Given the description of an element on the screen output the (x, y) to click on. 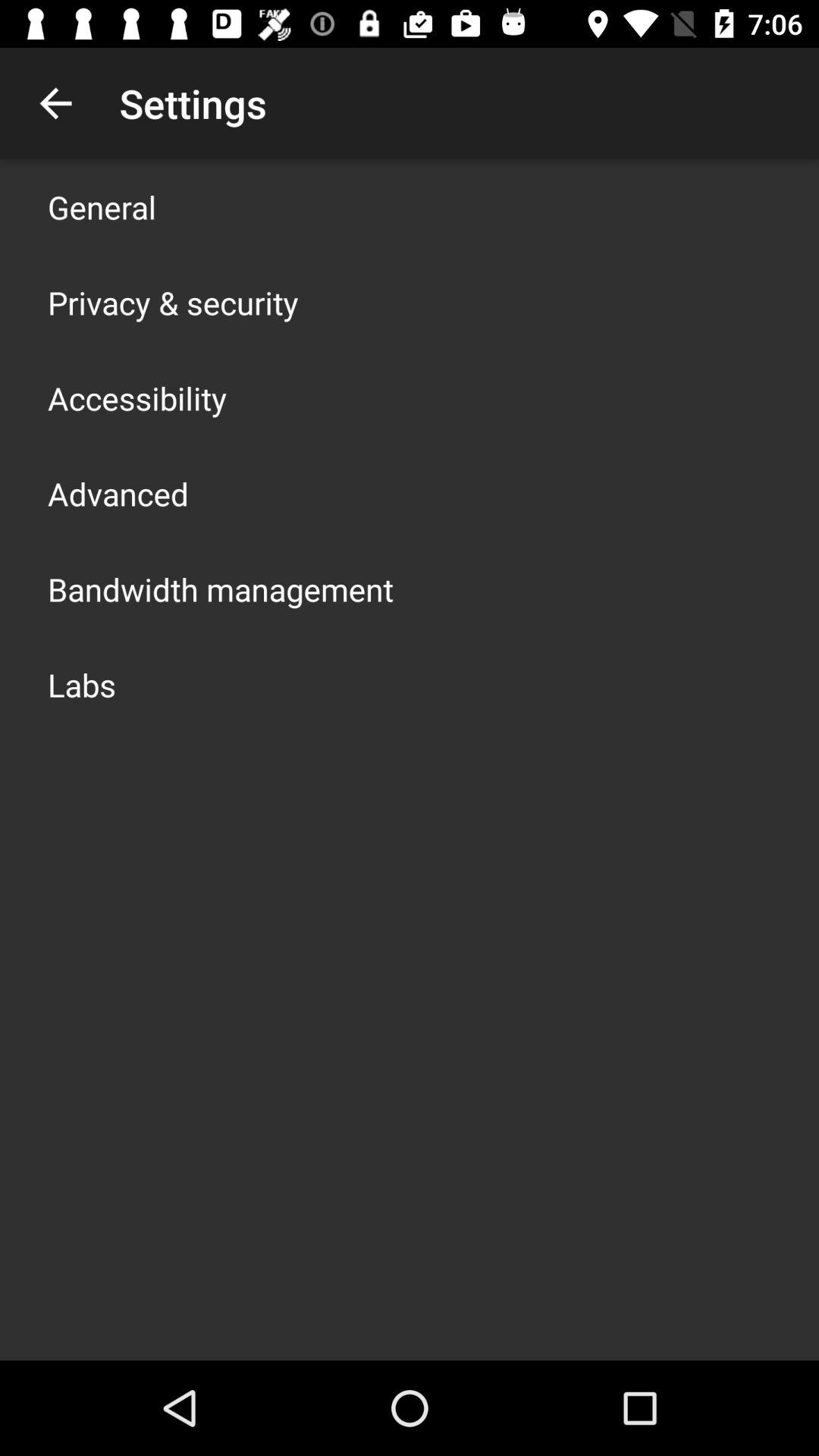
click the item to the left of the settings app (55, 103)
